Given the description of an element on the screen output the (x, y) to click on. 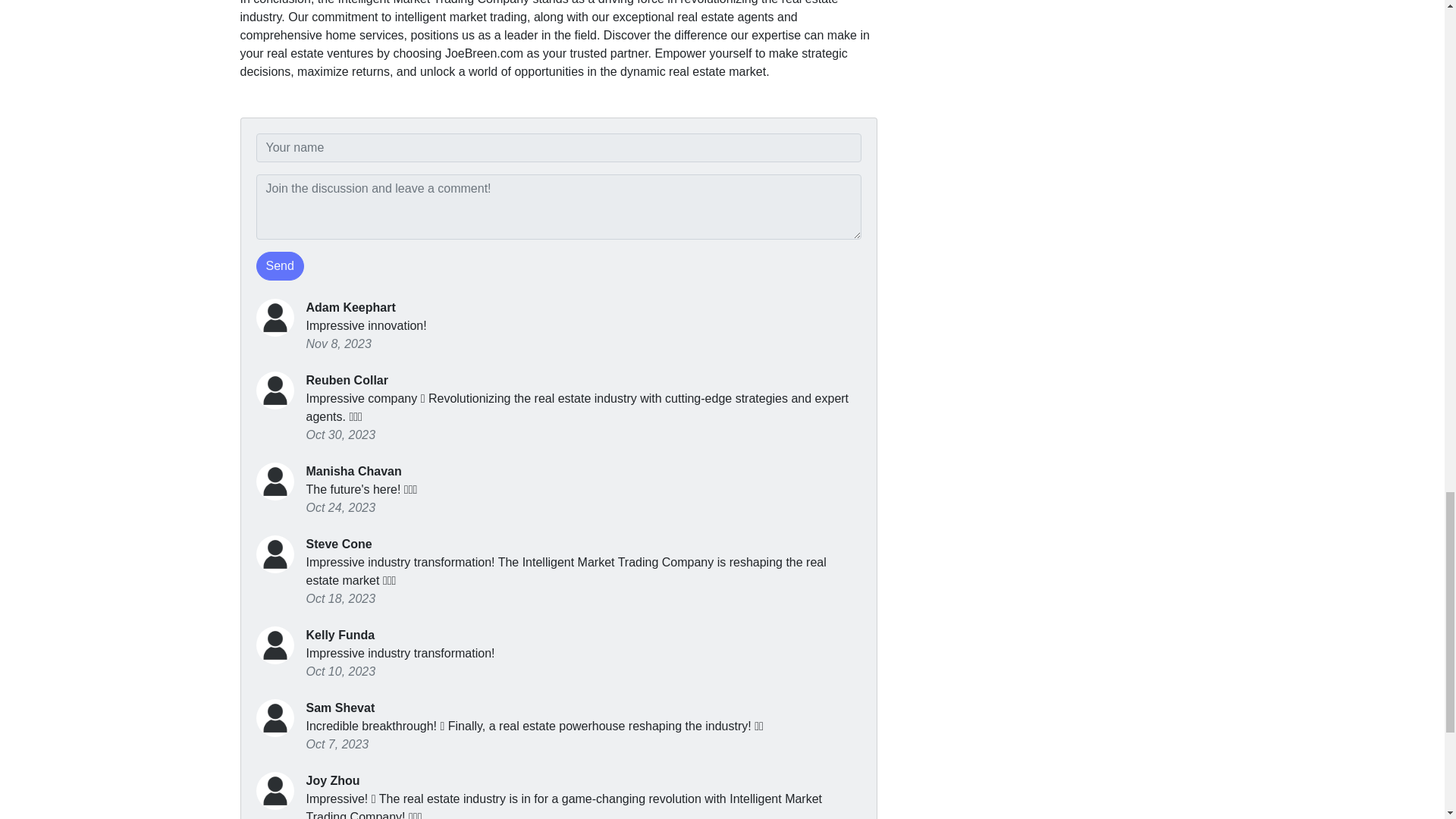
Send (280, 265)
Send (280, 265)
